Given the description of an element on the screen output the (x, y) to click on. 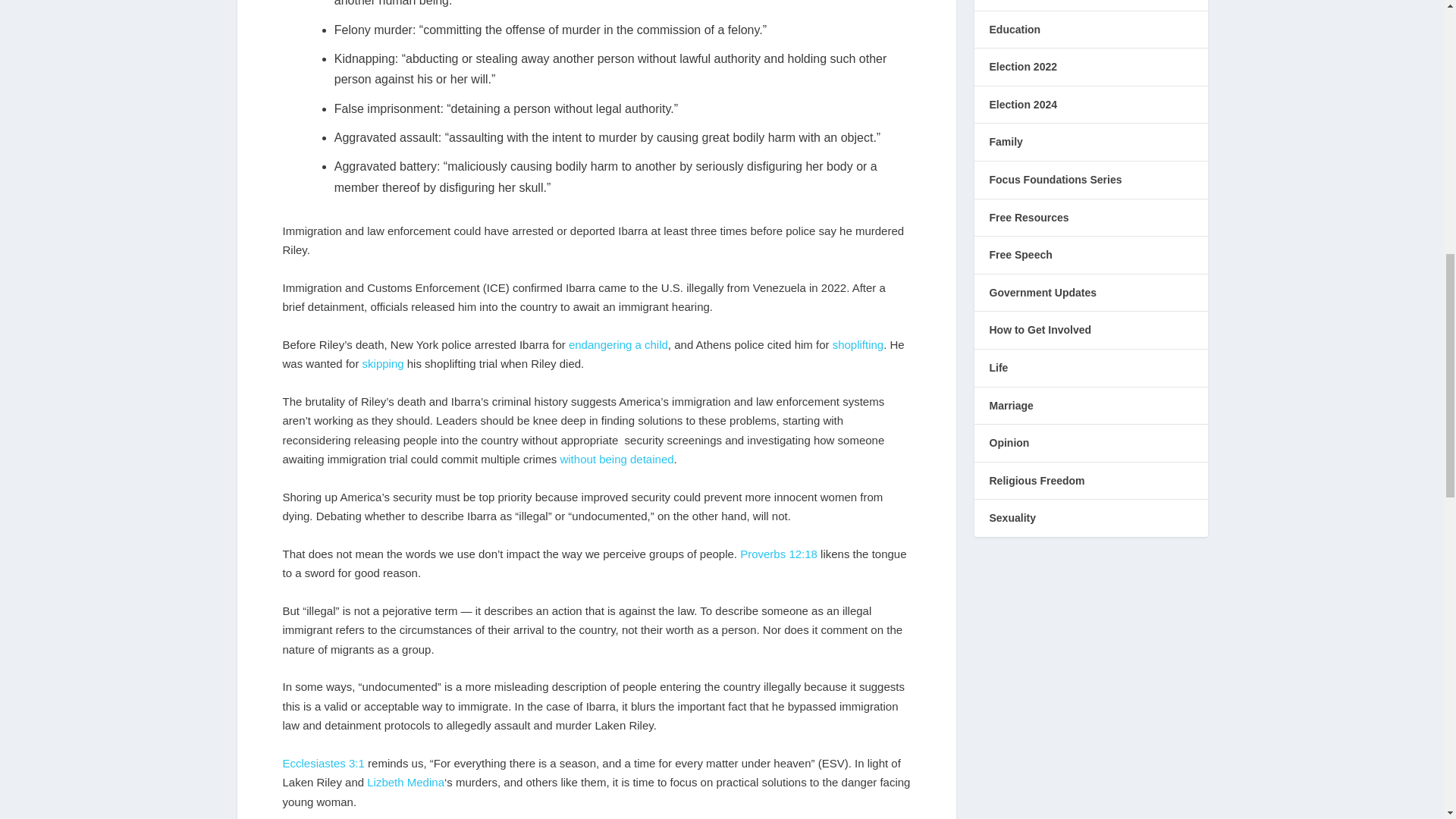
Ecclesiastes 3:1 (323, 762)
skipping (383, 363)
Lizbeth Medina (405, 781)
without being detained (615, 459)
shoplifting (857, 344)
endangering a child (618, 344)
Proverbs 12:18 (777, 553)
